Given the description of an element on the screen output the (x, y) to click on. 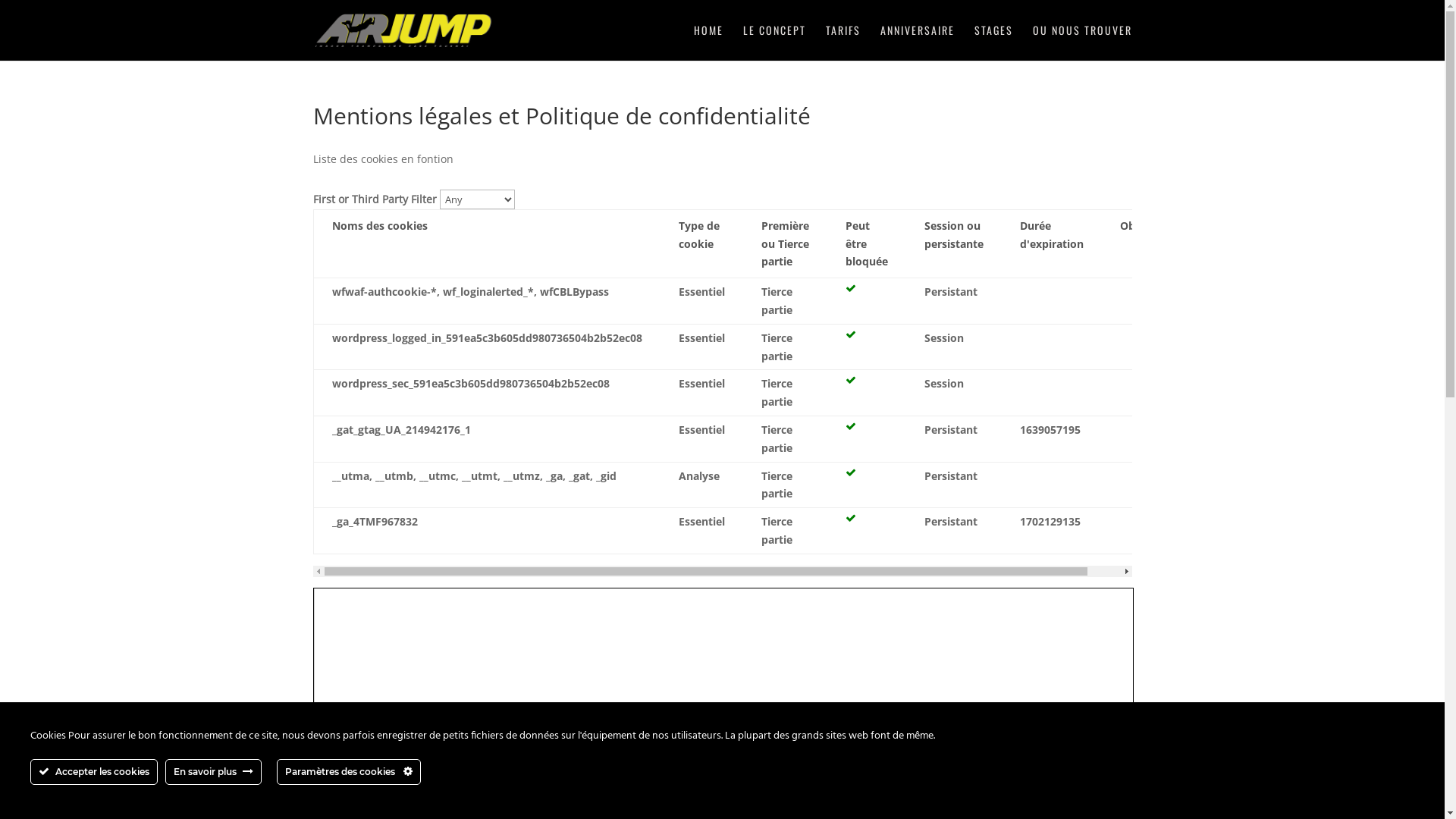
OU NOUS TROUVER Element type: text (1082, 42)
TARIFS Element type: text (842, 42)
HOME Element type: text (707, 42)
STAGES Element type: text (992, 42)
ANNIVERSAIRE Element type: text (916, 42)
LE CONCEPT Element type: text (774, 42)
